Given the description of an element on the screen output the (x, y) to click on. 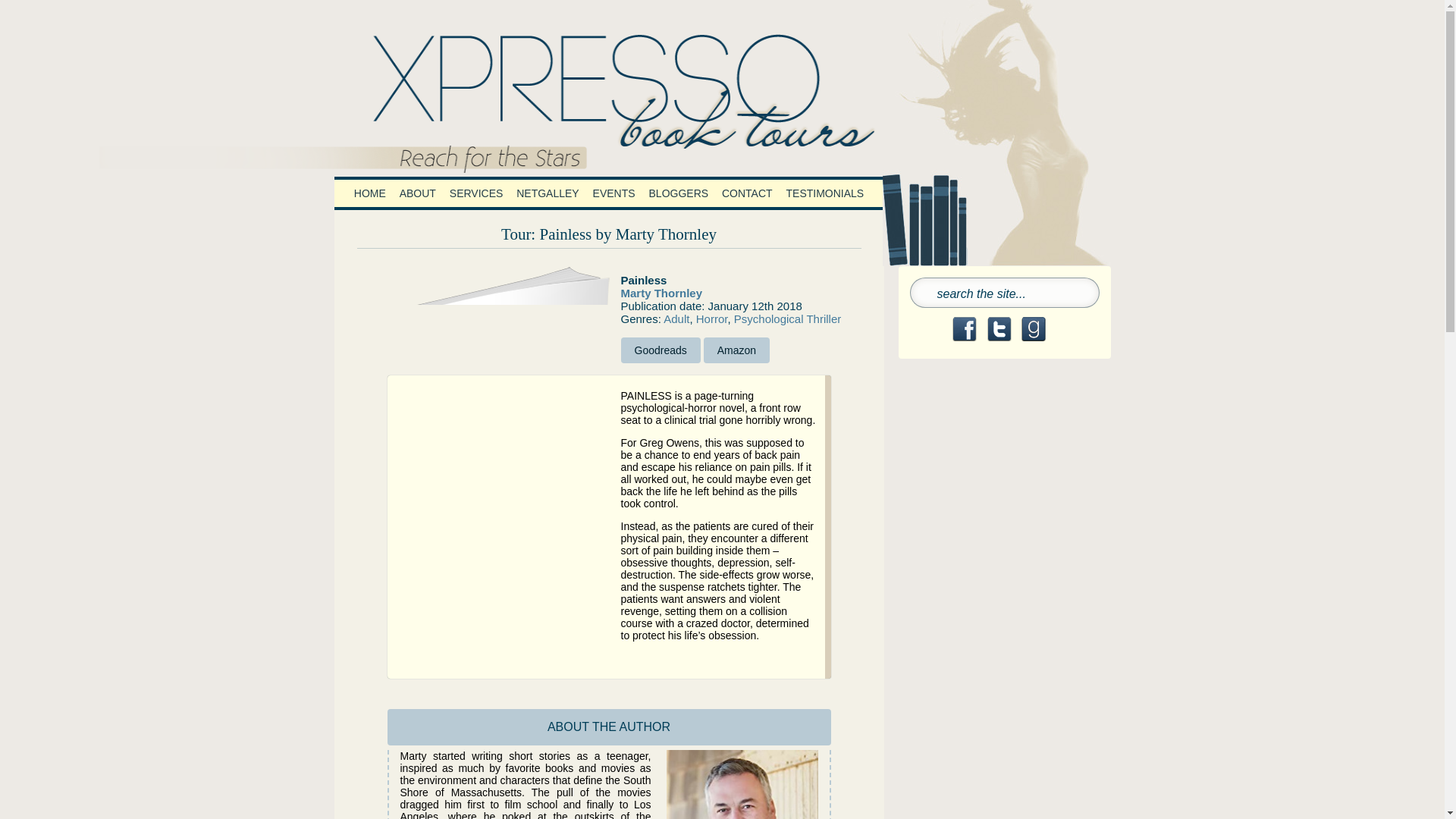
TESTIMONIALS (824, 193)
Horror (711, 318)
Adult (675, 318)
BLOGGERS (678, 193)
Marty Thornley (660, 292)
ABOUT (417, 193)
EVENTS (614, 193)
HOME (370, 193)
Goodreads (660, 350)
Psychological Thriller (787, 318)
